Given the description of an element on the screen output the (x, y) to click on. 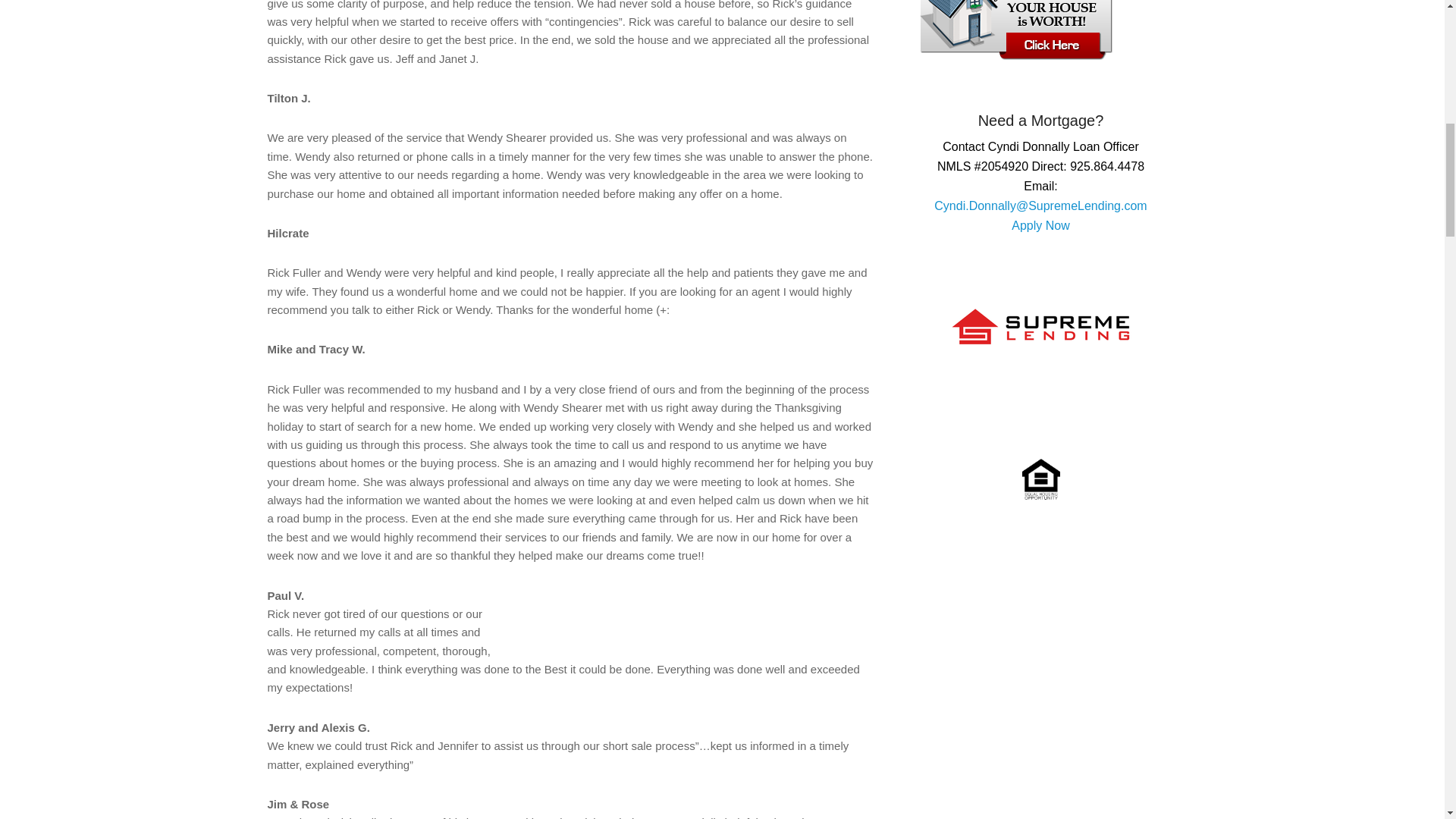
Find out how much your home is worth (1015, 55)
